Given the description of an element on the screen output the (x, y) to click on. 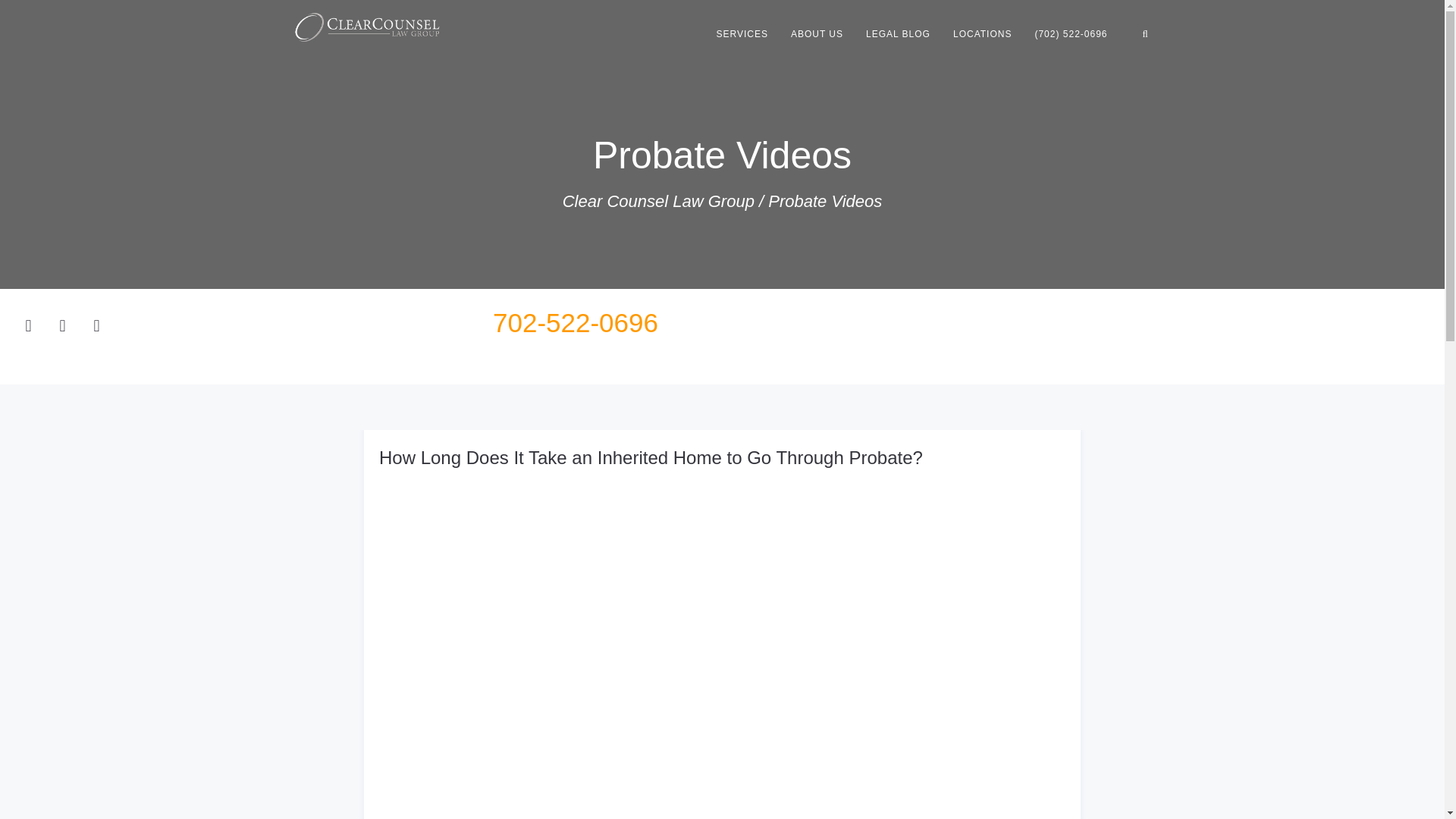
Clear Counsel Law Group (658, 200)
LEGAL BLOG (898, 33)
phone (1070, 33)
702-522-0696 (575, 322)
SERVICES (741, 33)
LOCATIONS (982, 33)
ABOUT US (816, 33)
